Given the description of an element on the screen output the (x, y) to click on. 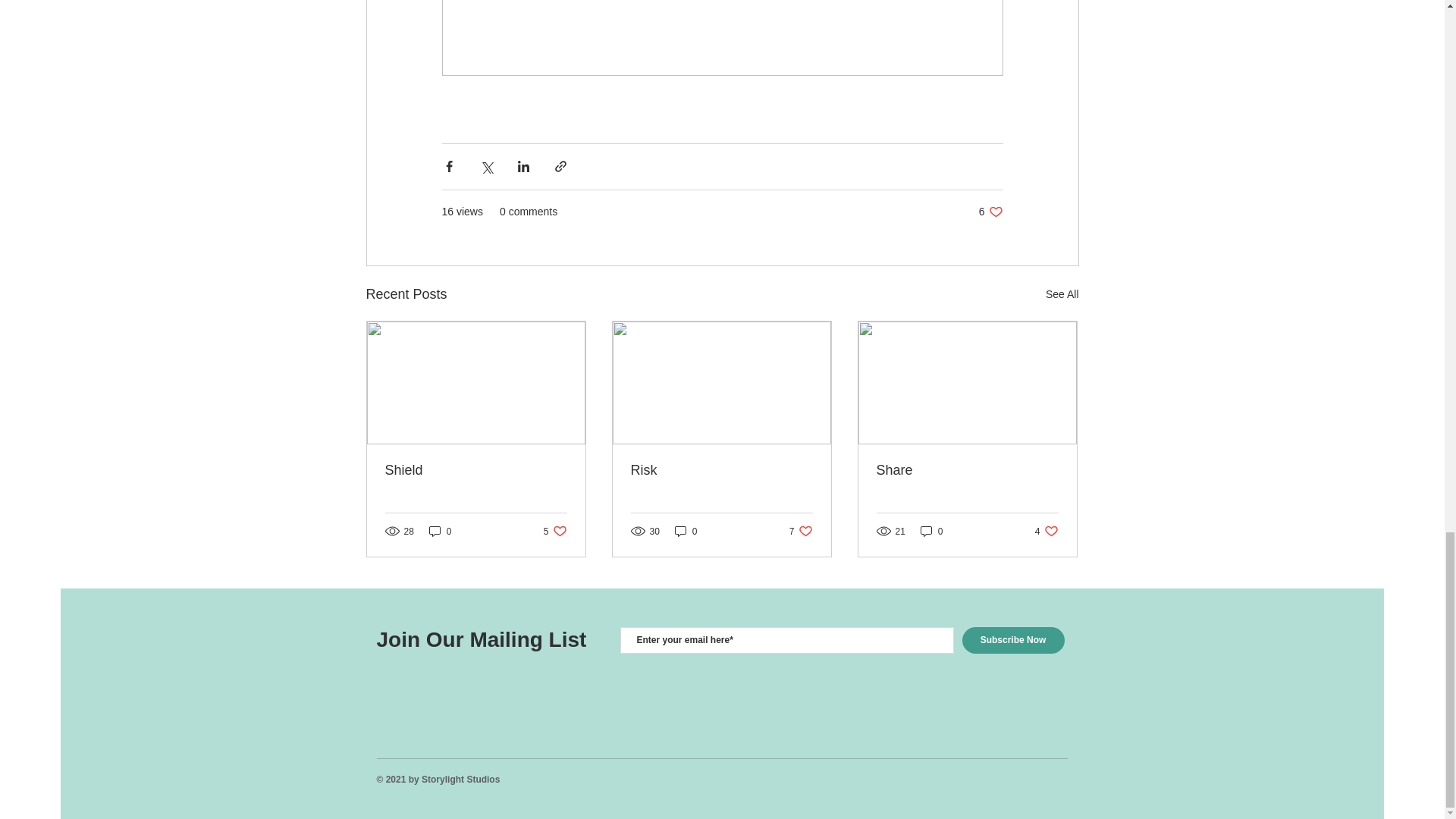
0 (800, 531)
Risk (685, 531)
0 (721, 470)
Subscribe Now (555, 531)
Shield (440, 531)
Share (1012, 640)
See All (476, 470)
0 (990, 211)
